Given the description of an element on the screen output the (x, y) to click on. 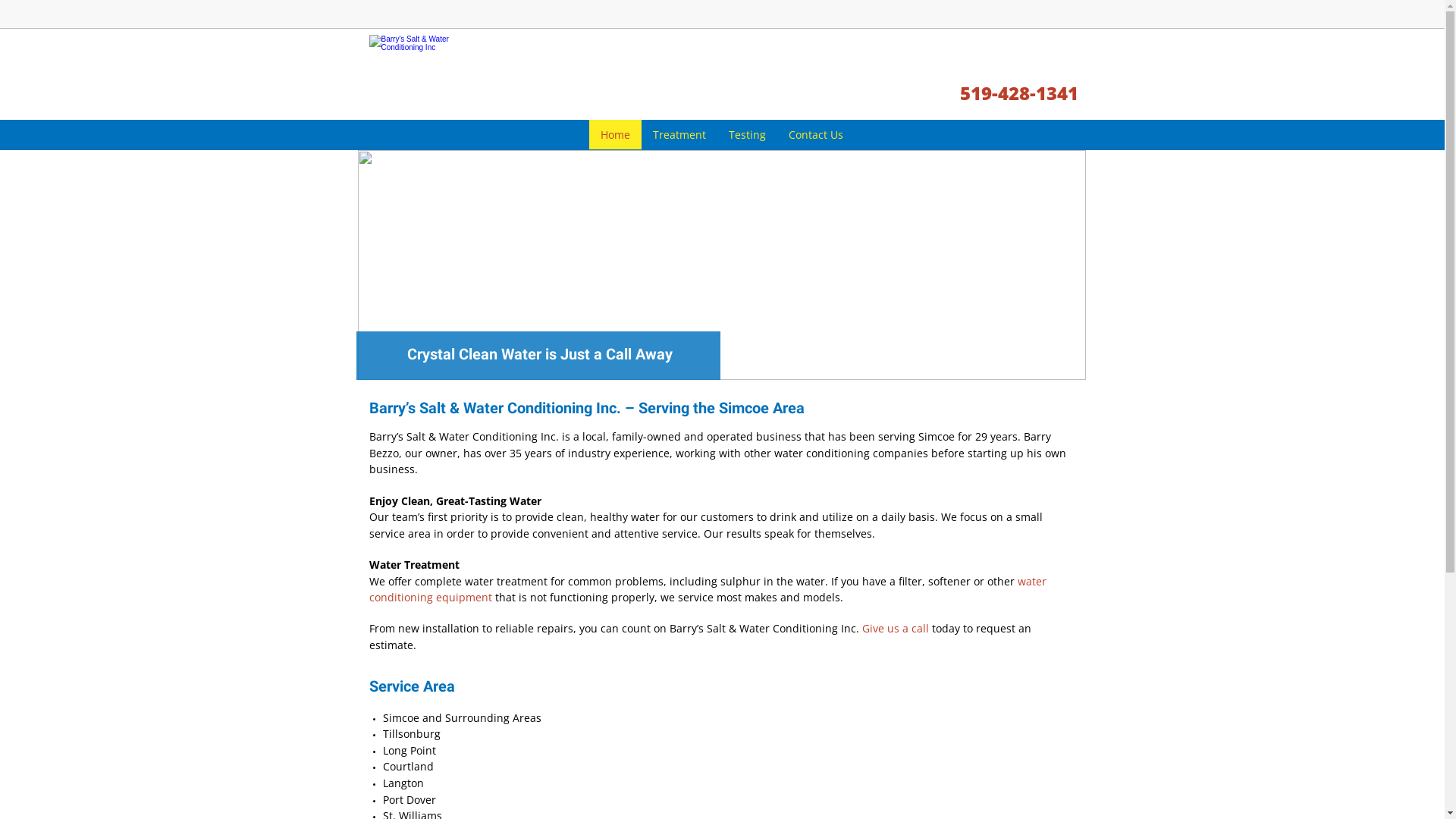
water conditioning equipment Element type: text (706, 589)
Testing Element type: text (747, 134)
Home Element type: text (615, 134)
519-428-1341 Element type: text (1019, 95)
Embedded Content Element type: hover (1069, 19)
Contact Us Element type: text (815, 134)
Treatment Element type: text (679, 134)
Give us a call Element type: text (896, 628)
Embedded Content Element type: hover (944, 22)
